Given the description of an element on the screen output the (x, y) to click on. 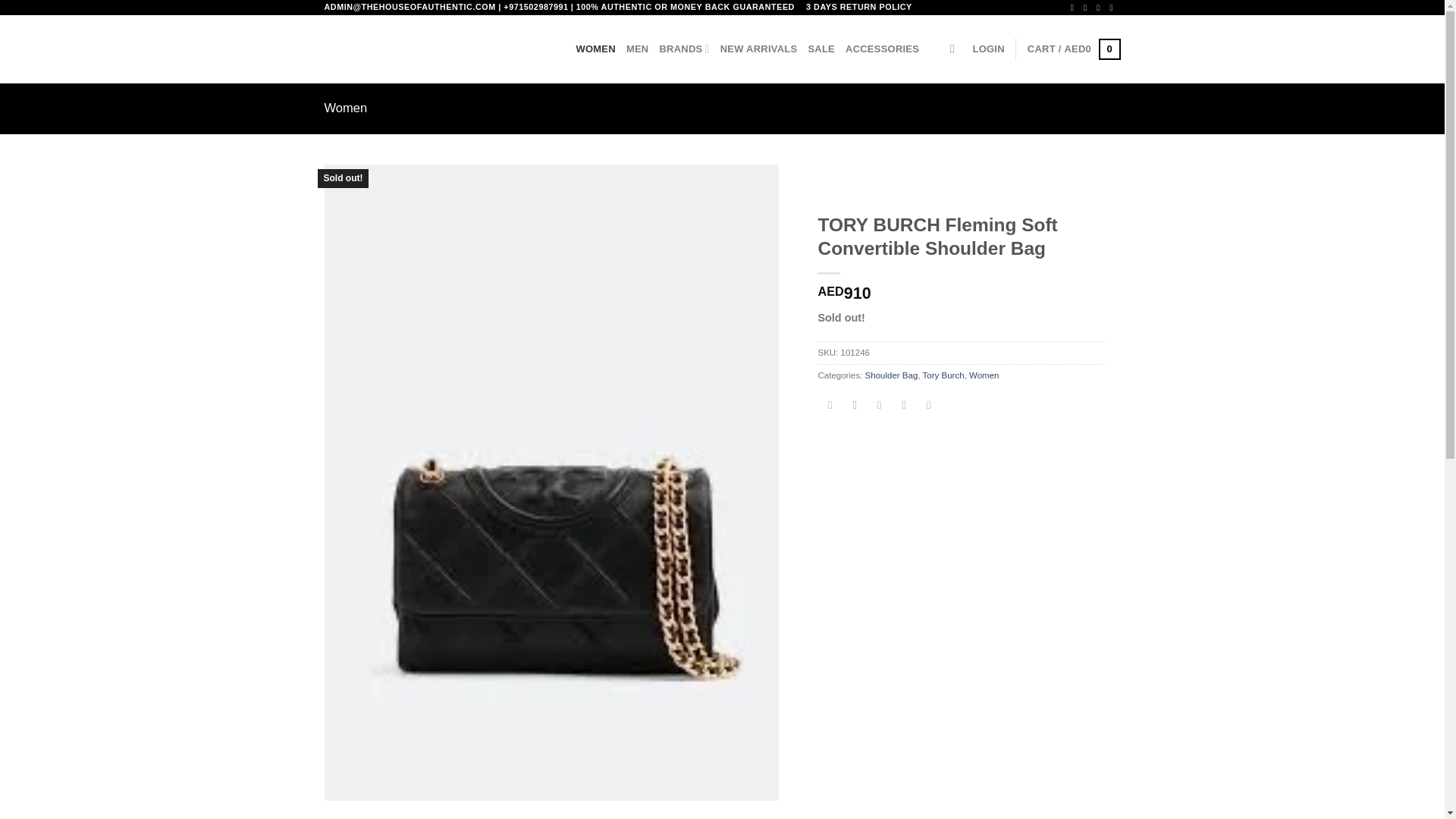
Follow on Instagram (1087, 7)
NEW ARRIVALS (758, 49)
Share on Facebook (829, 404)
Share on Twitter (854, 404)
Shoulder Bag (891, 375)
BRANDS (684, 48)
Send us an email (1113, 7)
Pin on Pinterest (903, 404)
LOGIN (988, 49)
Women (983, 375)
